Given the description of an element on the screen output the (x, y) to click on. 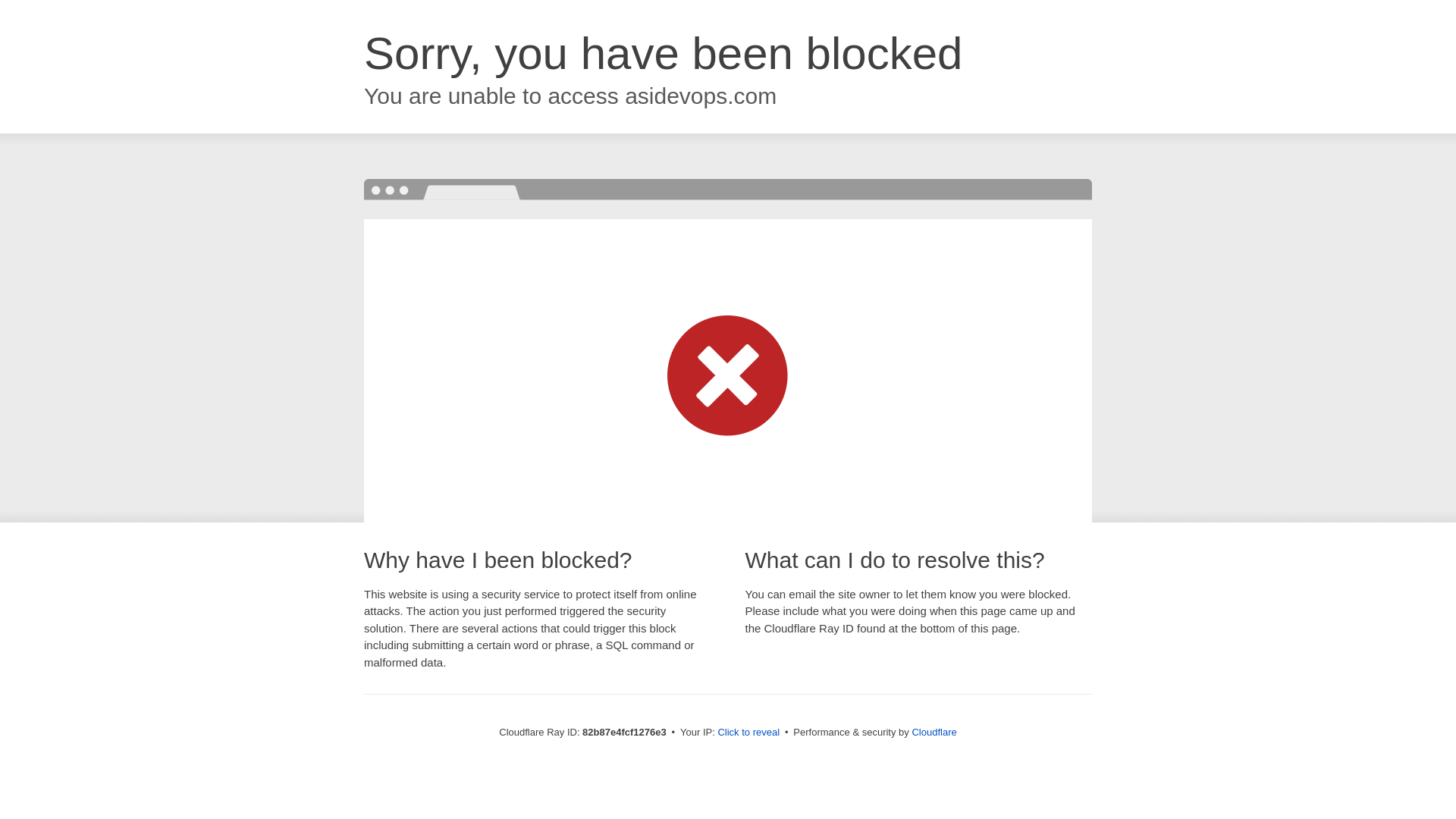
Cloudflare Element type: text (933, 731)
Click to reveal Element type: text (748, 732)
